Given the description of an element on the screen output the (x, y) to click on. 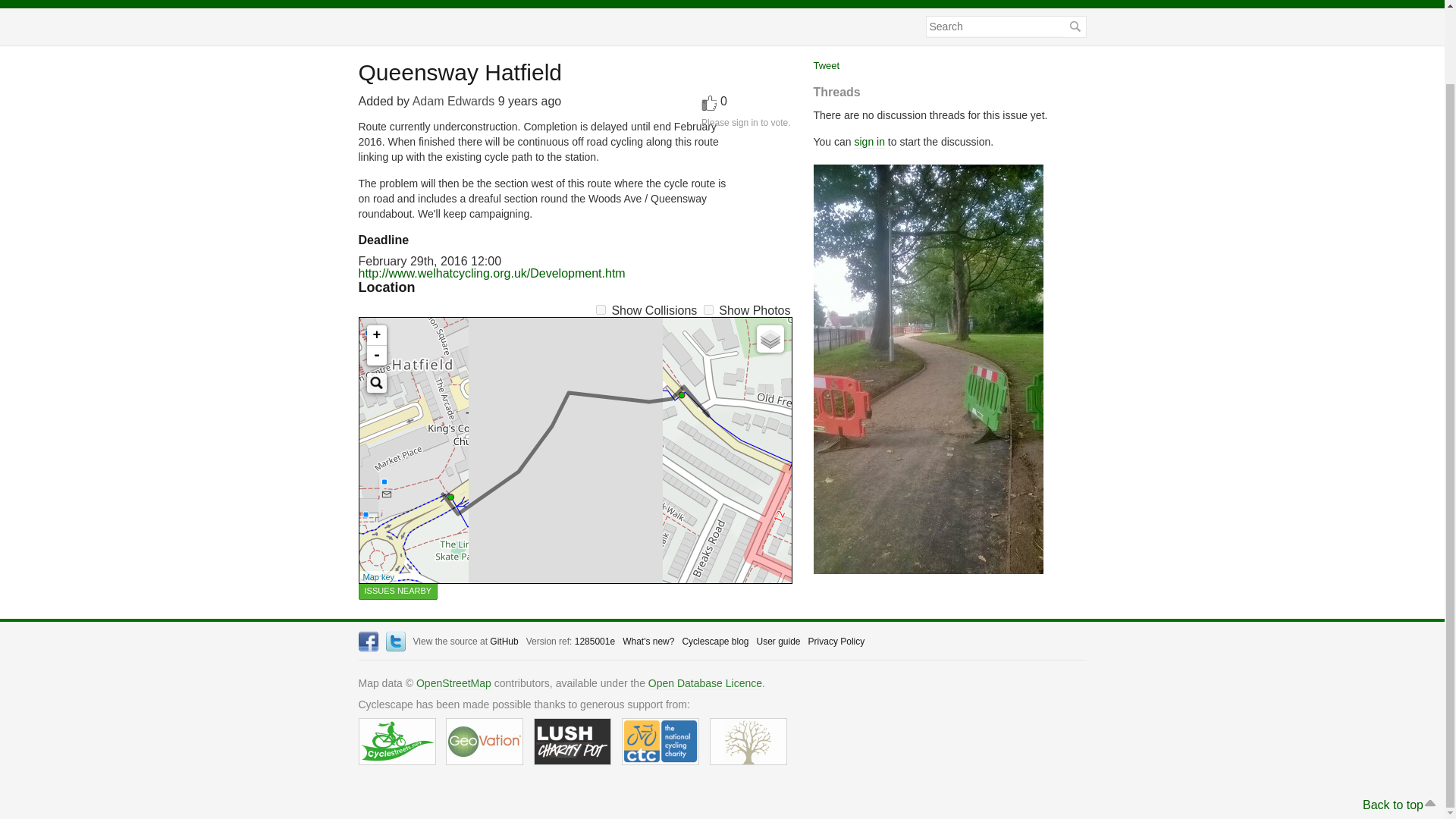
GitHub (503, 641)
Search... (376, 383)
Layers (770, 338)
24 December, 2015 12:42 (529, 101)
Open Database Licence (704, 683)
Funding from CycleStreets (396, 741)
Cyclescape Facebook page (367, 641)
Zoom in (376, 335)
Discussion threads (749, 4)
1 (708, 309)
